Given the description of an element on the screen output the (x, y) to click on. 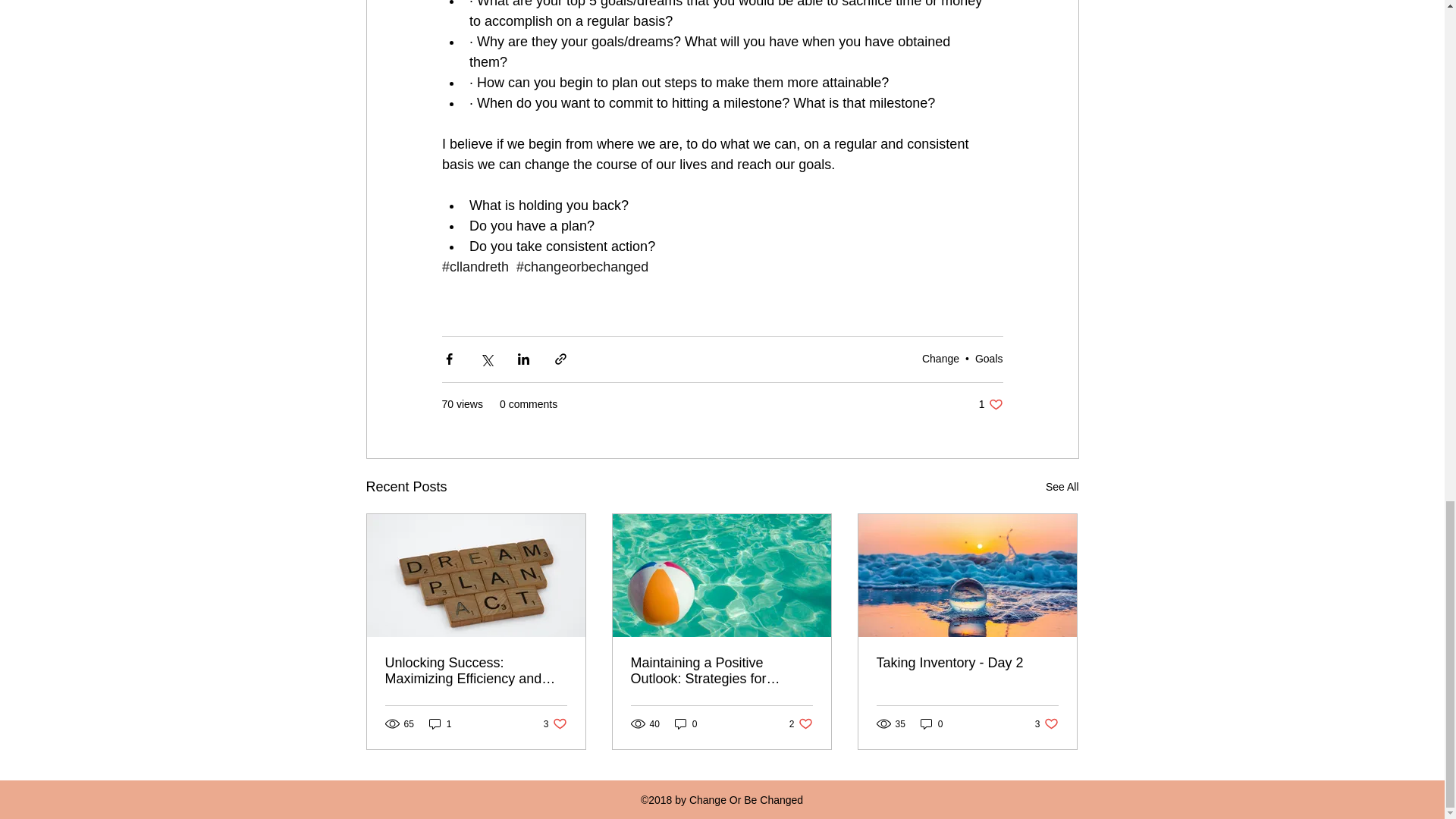
See All (1061, 486)
0 (990, 404)
Goals (800, 723)
1 (685, 723)
Change (989, 358)
